Given the description of an element on the screen output the (x, y) to click on. 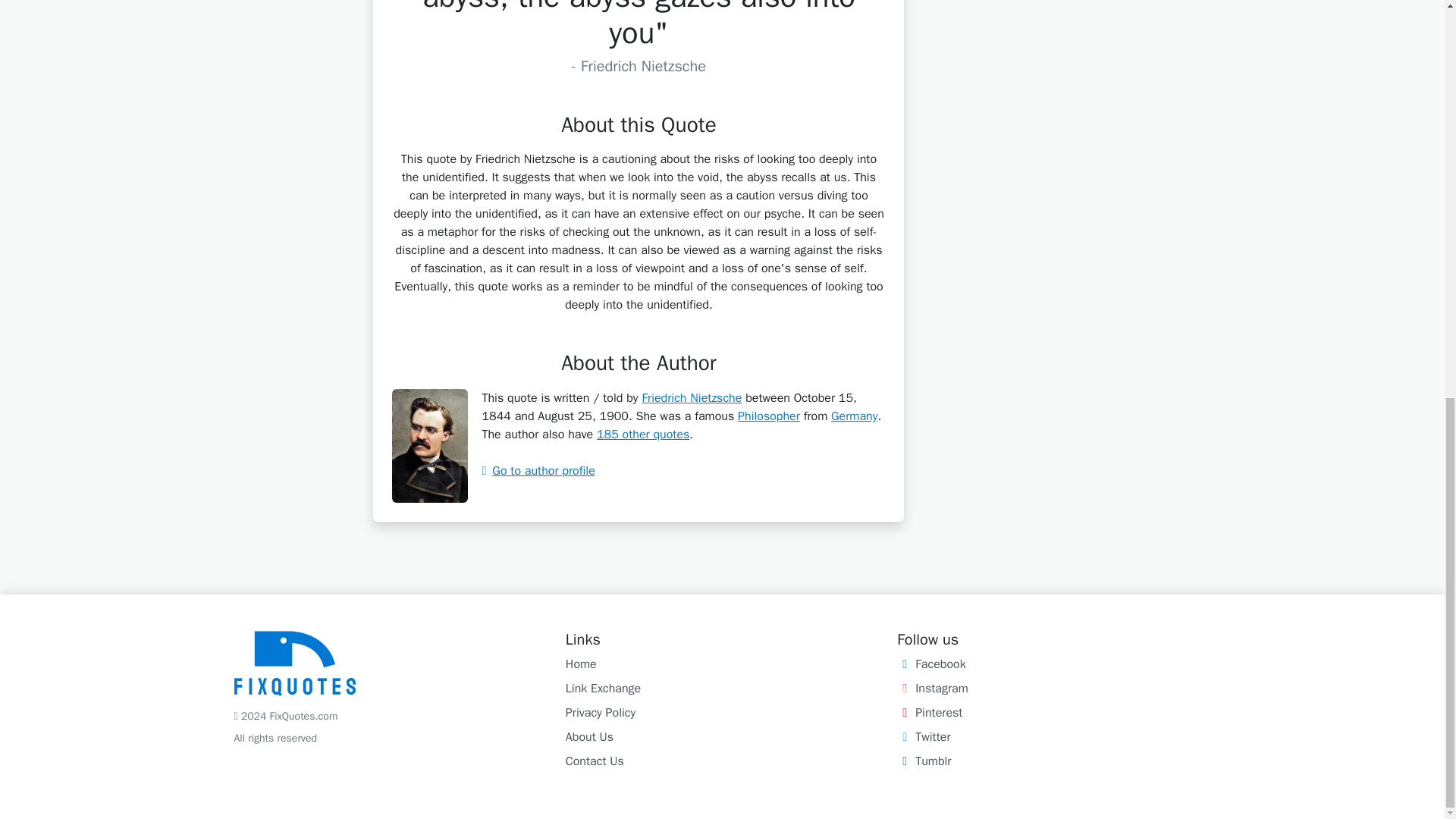
Link Exchange (603, 688)
Go to author profile (537, 470)
Germany (854, 416)
185 other quotes (642, 434)
Facebook (930, 663)
Home (581, 663)
Twitter (923, 736)
Philosopher (768, 416)
Instagram (932, 688)
About Us (589, 736)
